Given the description of an element on the screen output the (x, y) to click on. 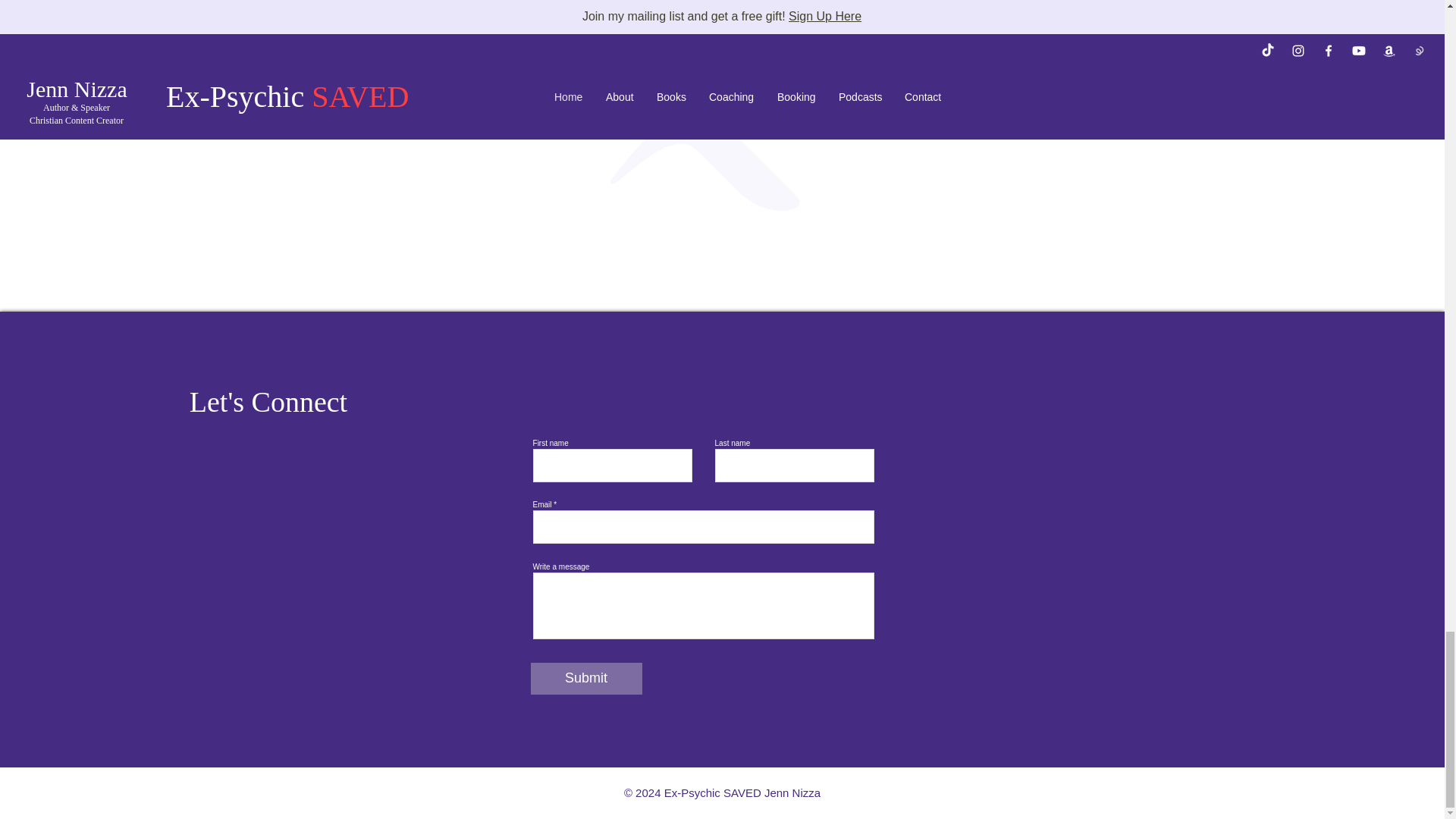
Submit (586, 678)
